Given the description of an element on the screen output the (x, y) to click on. 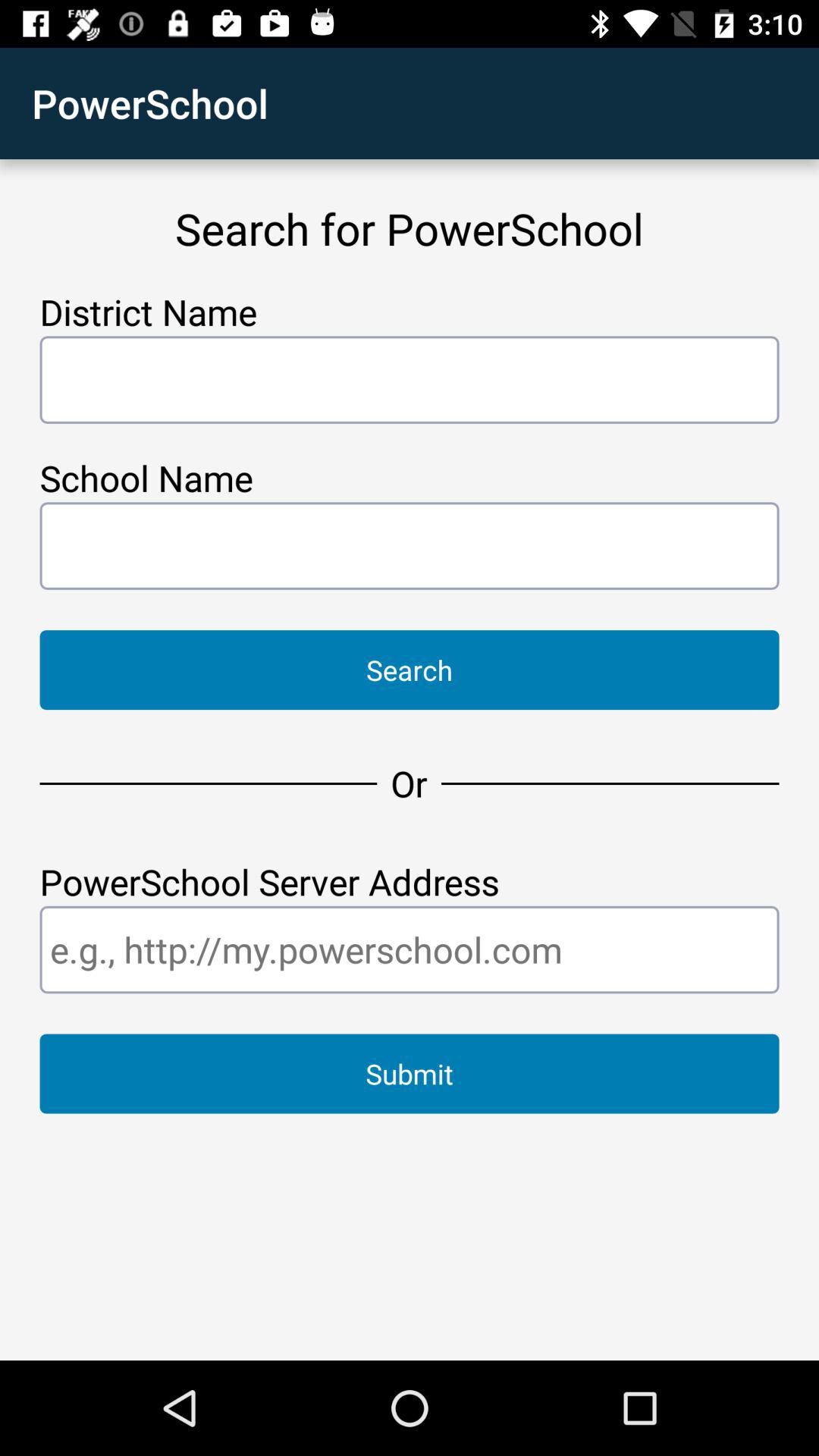
share the article (409, 949)
